Given the description of an element on the screen output the (x, y) to click on. 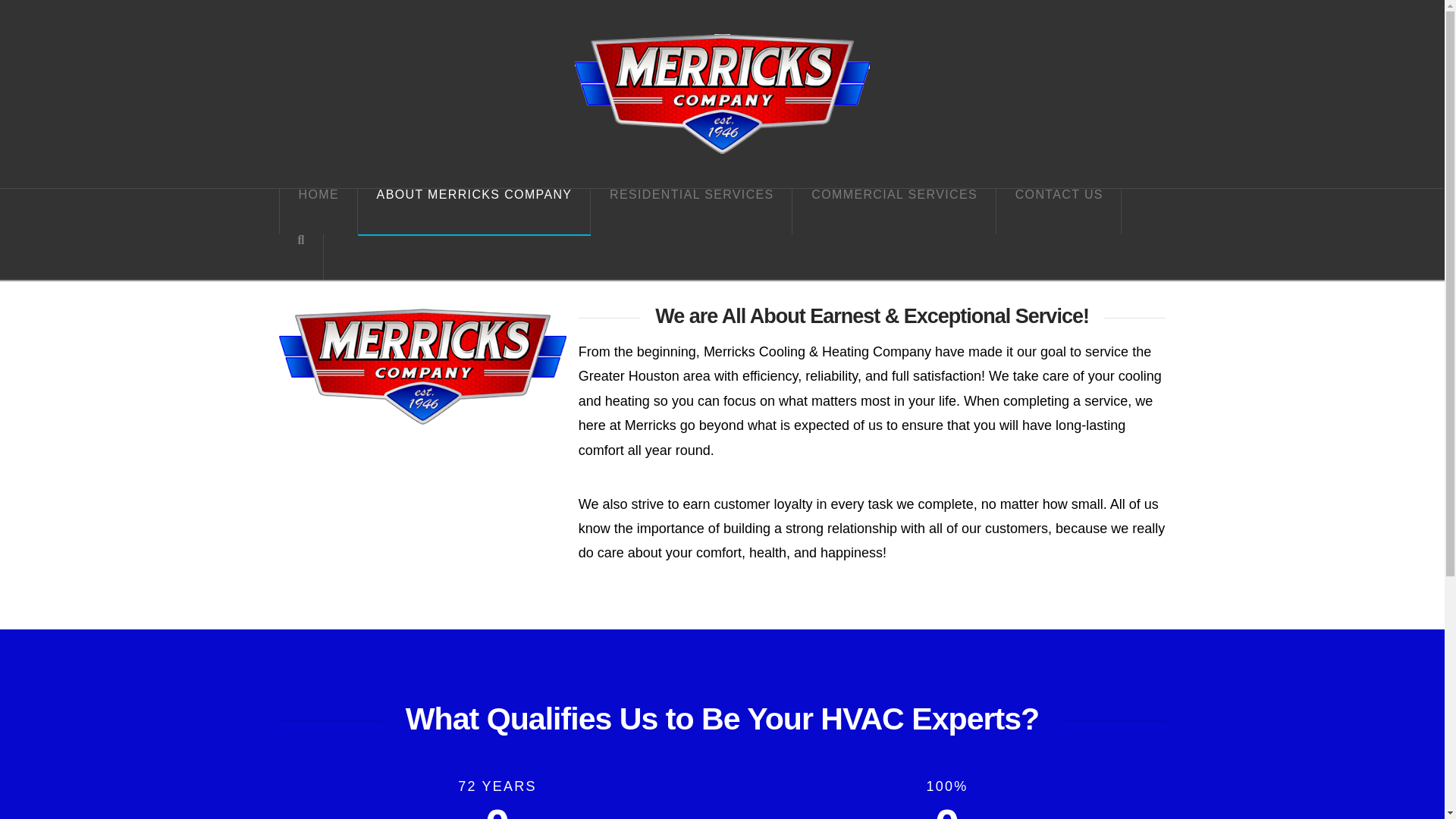
COMMERCIAL SERVICES (893, 211)
ABOUT MERRICKS COMPANY (474, 211)
CONTACT US (1058, 211)
RESIDENTIAL SERVICES (691, 211)
HOME (318, 211)
